Given the description of an element on the screen output the (x, y) to click on. 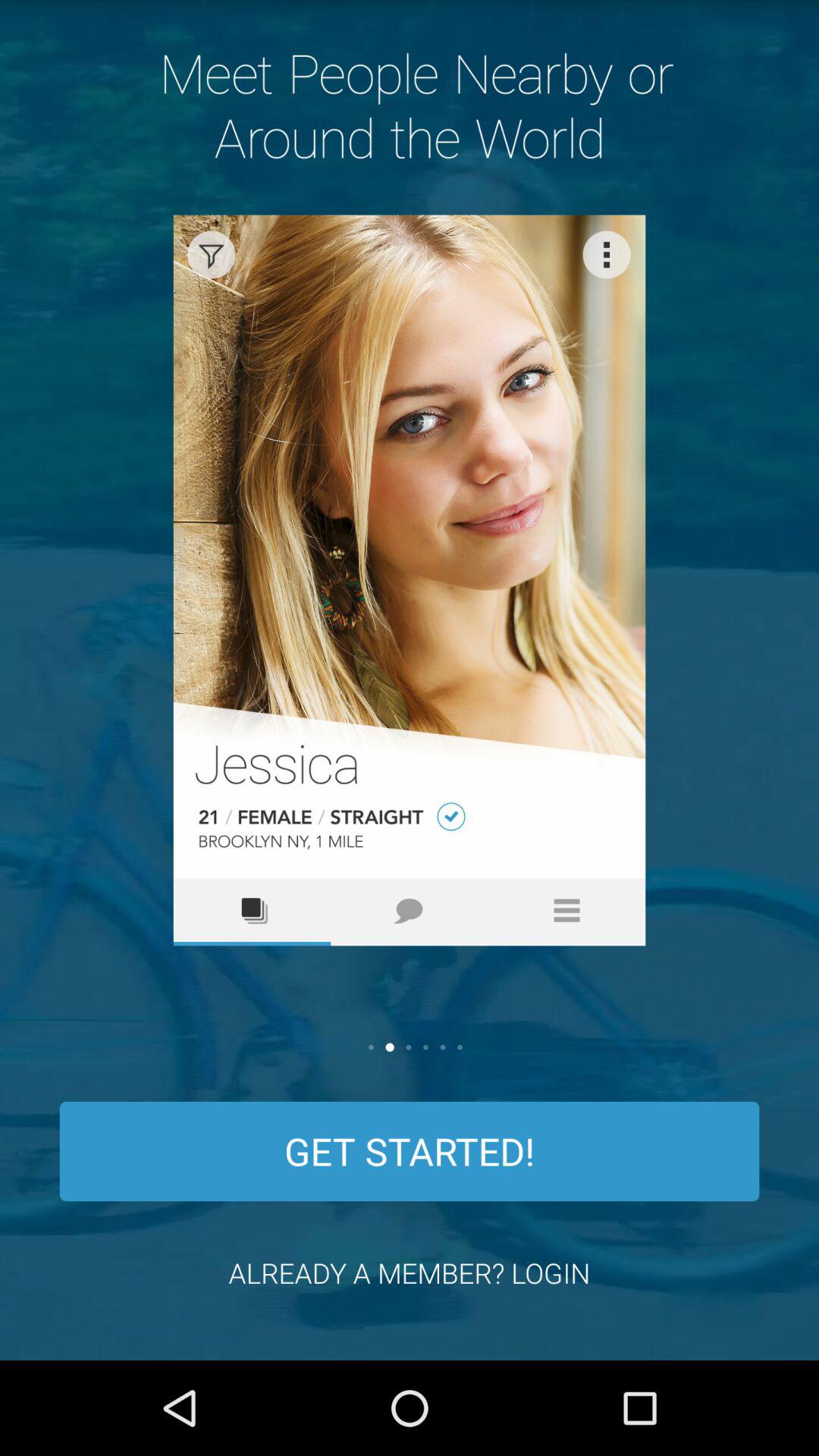
turn off the get started! item (409, 1151)
